Given the description of an element on the screen output the (x, y) to click on. 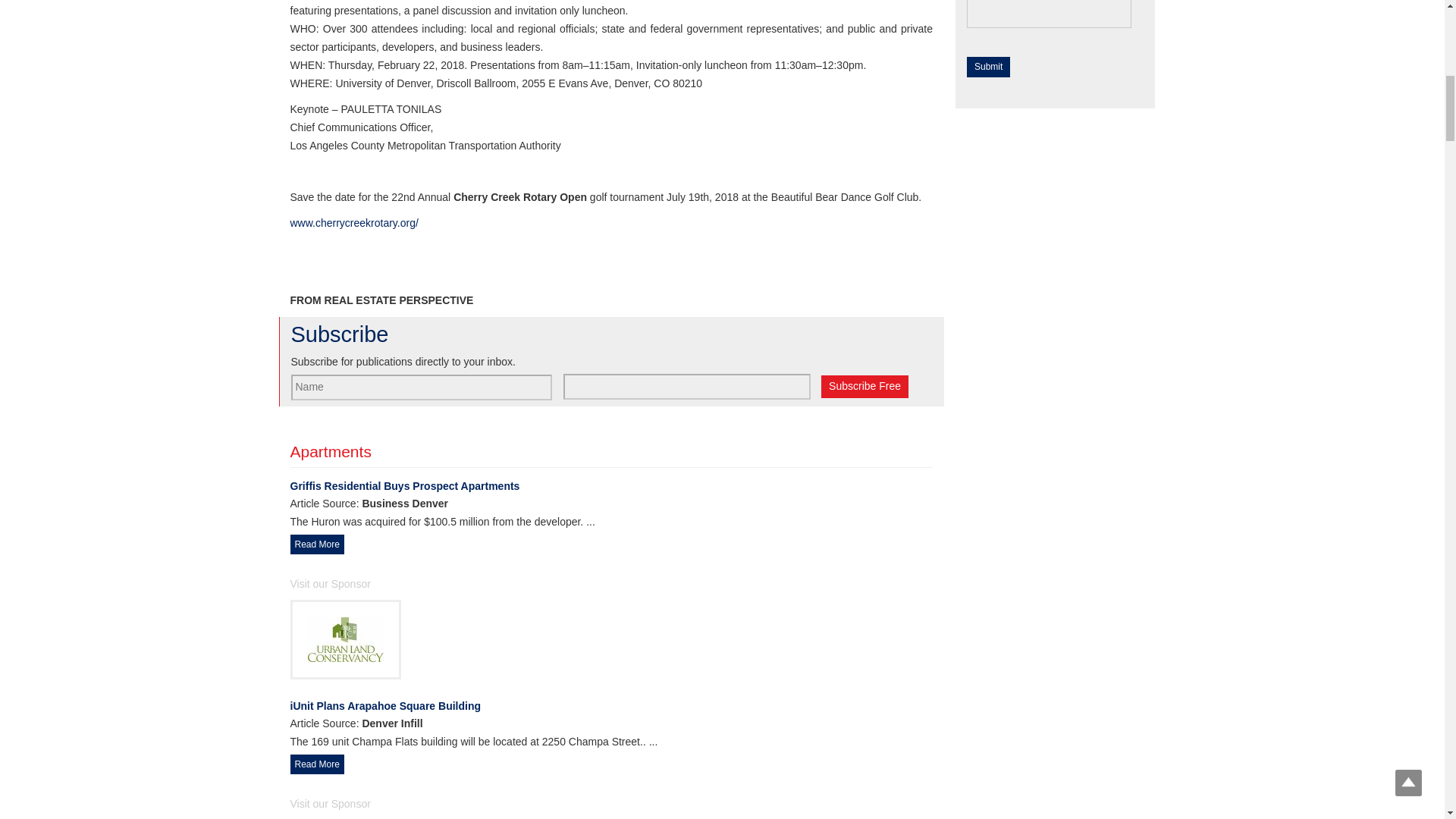
iUnit Plans Arapahoe Square Building (611, 706)
Griffis Residential Buys Prospect Apartments (611, 486)
Subscribe Free (864, 386)
Read More (316, 544)
Submit (988, 66)
Subscribe Free (864, 386)
